Given the description of an element on the screen output the (x, y) to click on. 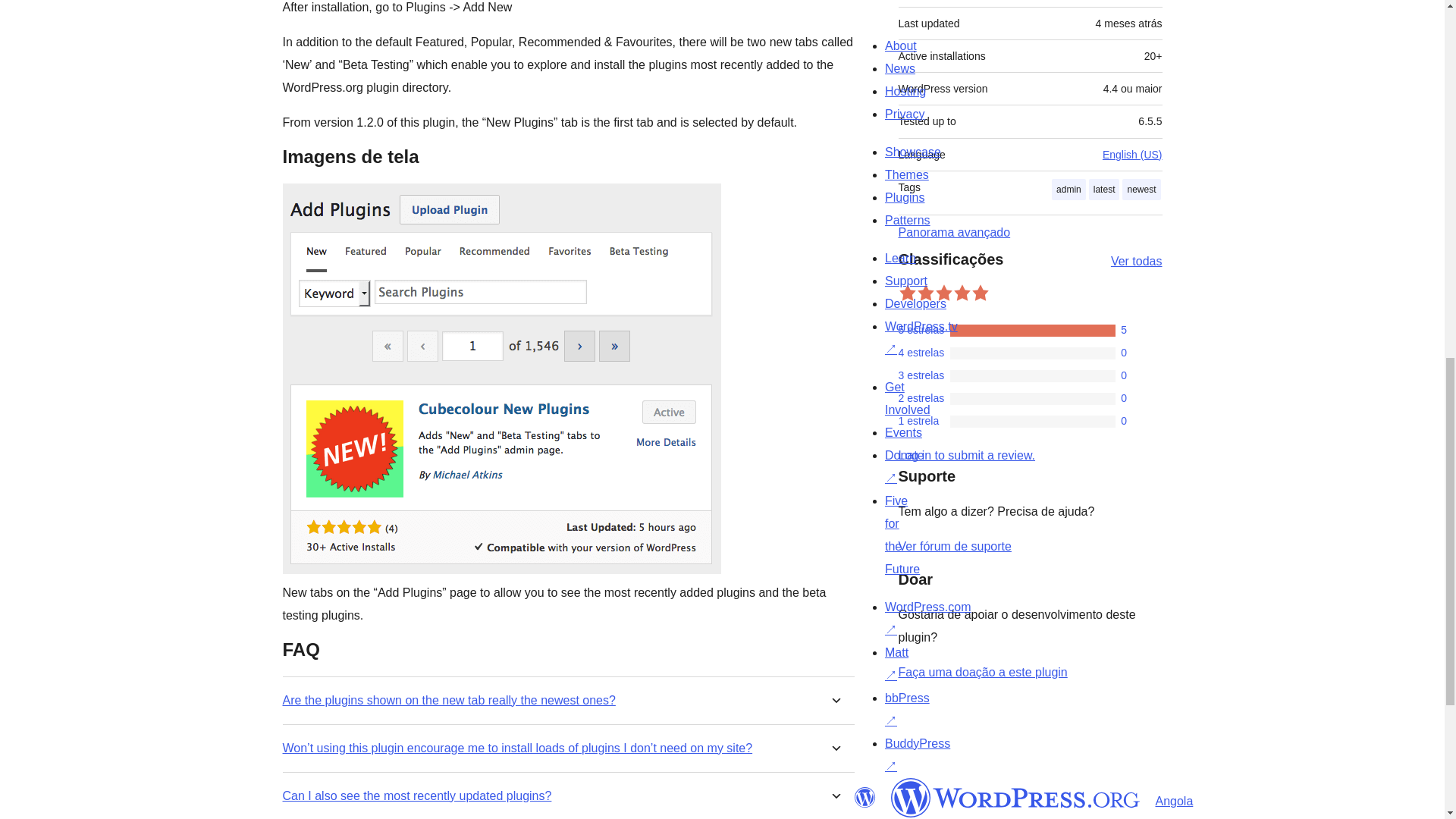
Log in to WordPress.org (966, 454)
WordPress.org (864, 797)
WordPress.org (1014, 797)
